Given the description of an element on the screen output the (x, y) to click on. 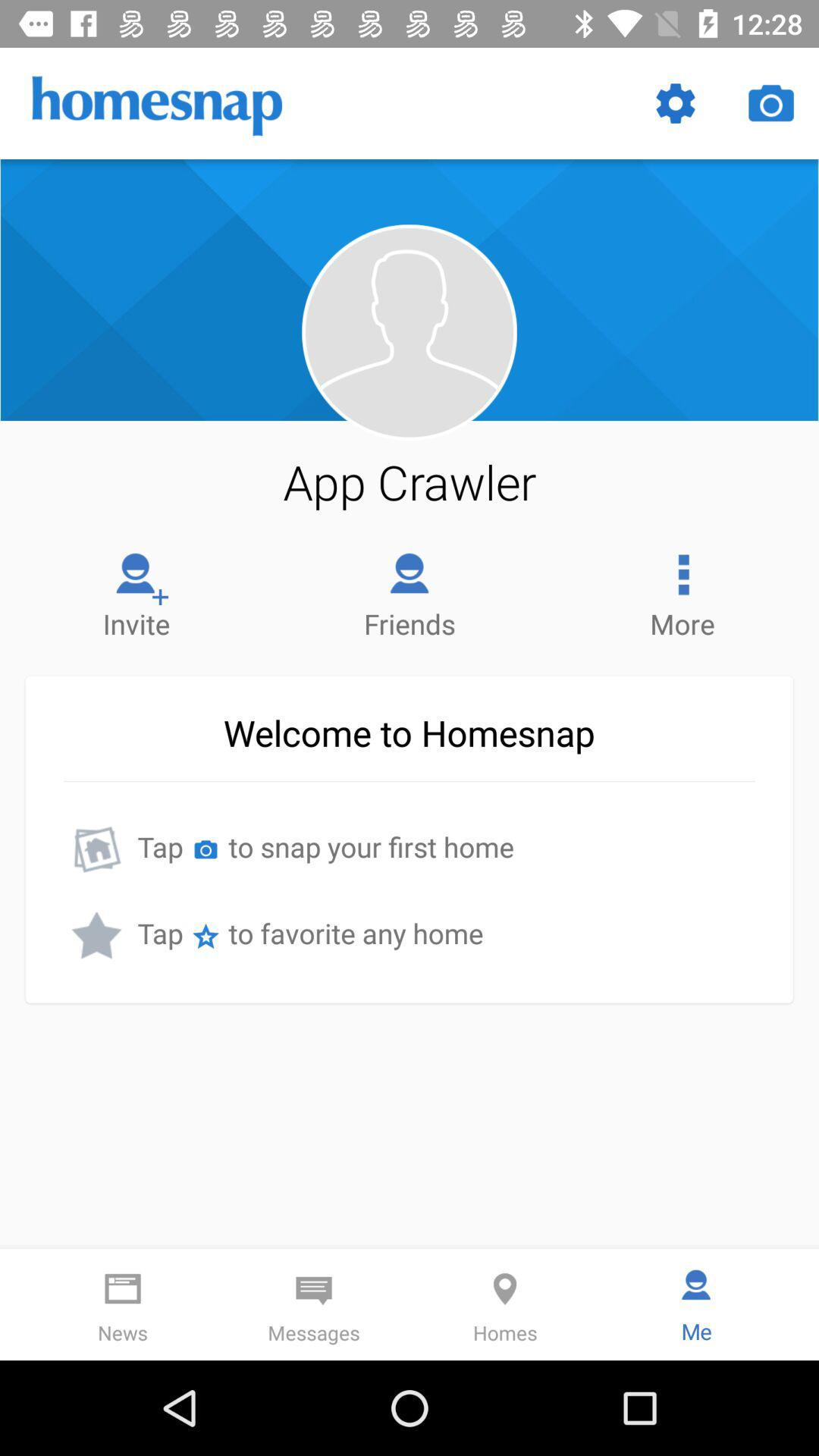
turn on the icon above invite icon (409, 481)
